Given the description of an element on the screen output the (x, y) to click on. 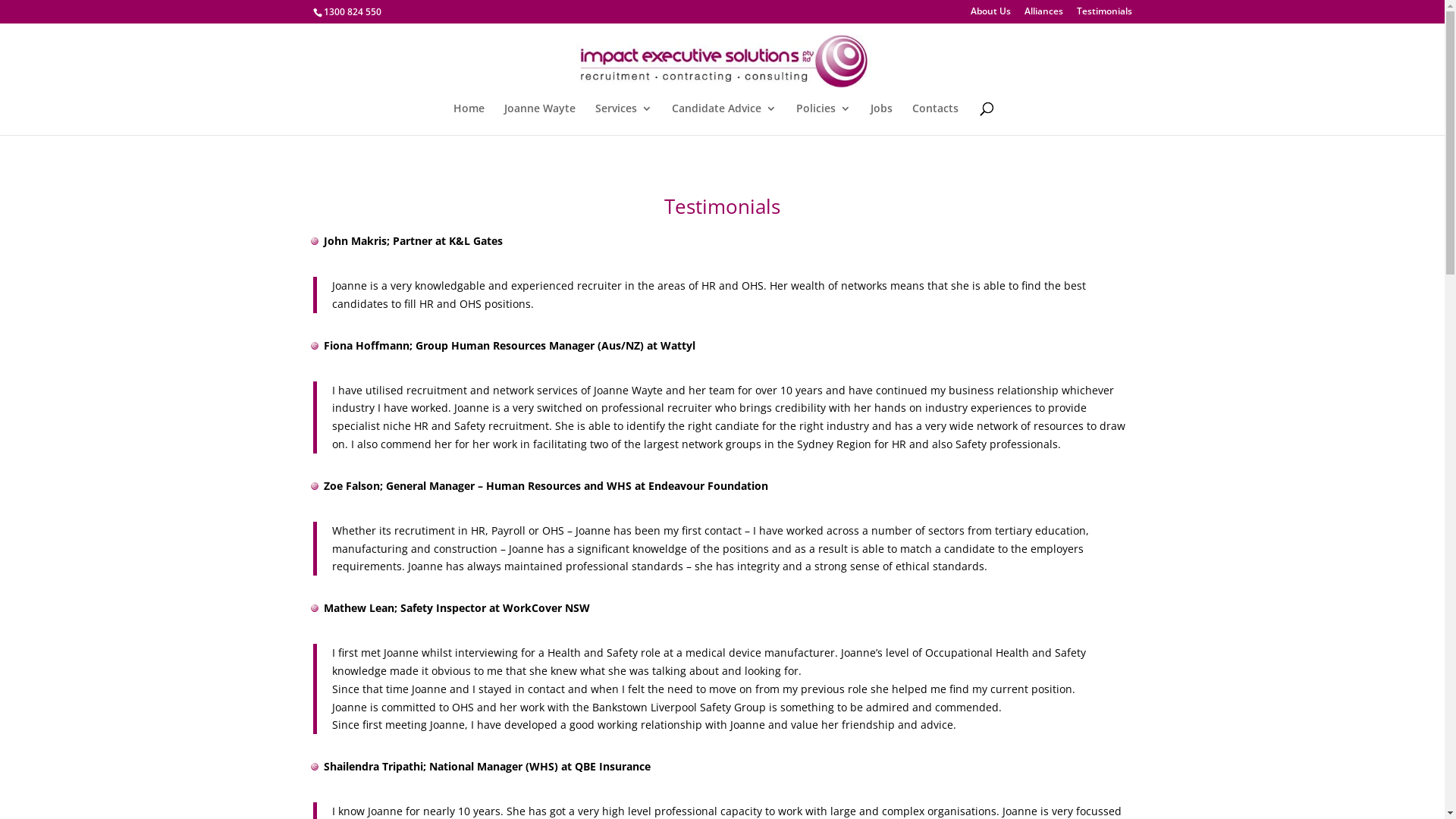
Home Element type: text (468, 118)
Alliances Element type: text (1042, 14)
Policies Element type: text (823, 118)
Services Element type: text (622, 118)
Joanne Wayte Element type: text (538, 118)
Contacts Element type: text (934, 118)
Jobs Element type: text (881, 118)
About Us Element type: text (990, 14)
Candidate Advice Element type: text (723, 118)
Testimonials Element type: text (1104, 14)
